Given the description of an element on the screen output the (x, y) to click on. 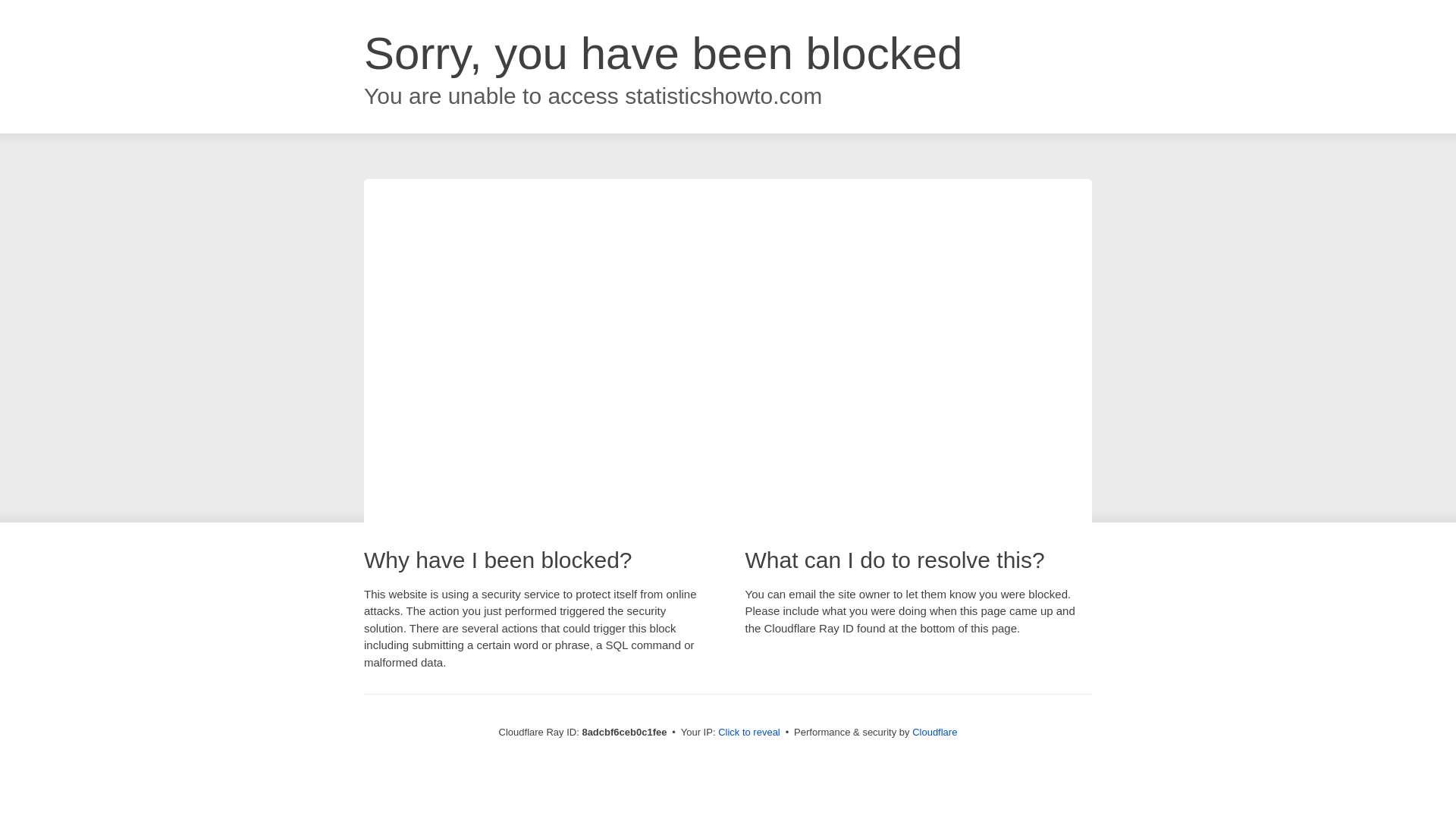
Click to reveal (748, 732)
Cloudflare (934, 731)
